Given the description of an element on the screen output the (x, y) to click on. 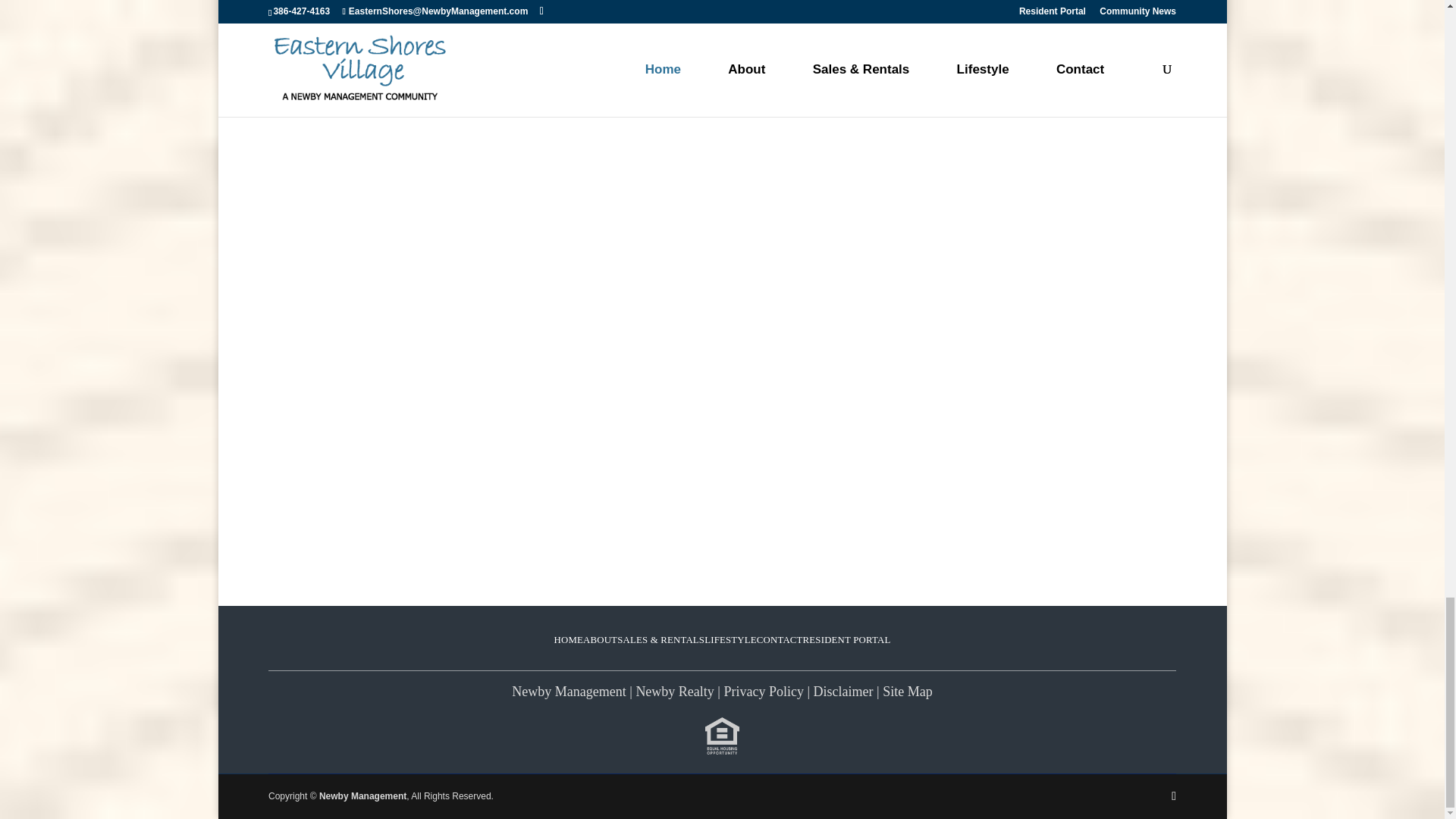
LIFESTYLE (730, 639)
Newby Management (569, 691)
ABOUT (600, 639)
RESIDENT PORTAL (847, 639)
HOME (568, 639)
CONTACT (780, 639)
